Given the description of an element on the screen output the (x, y) to click on. 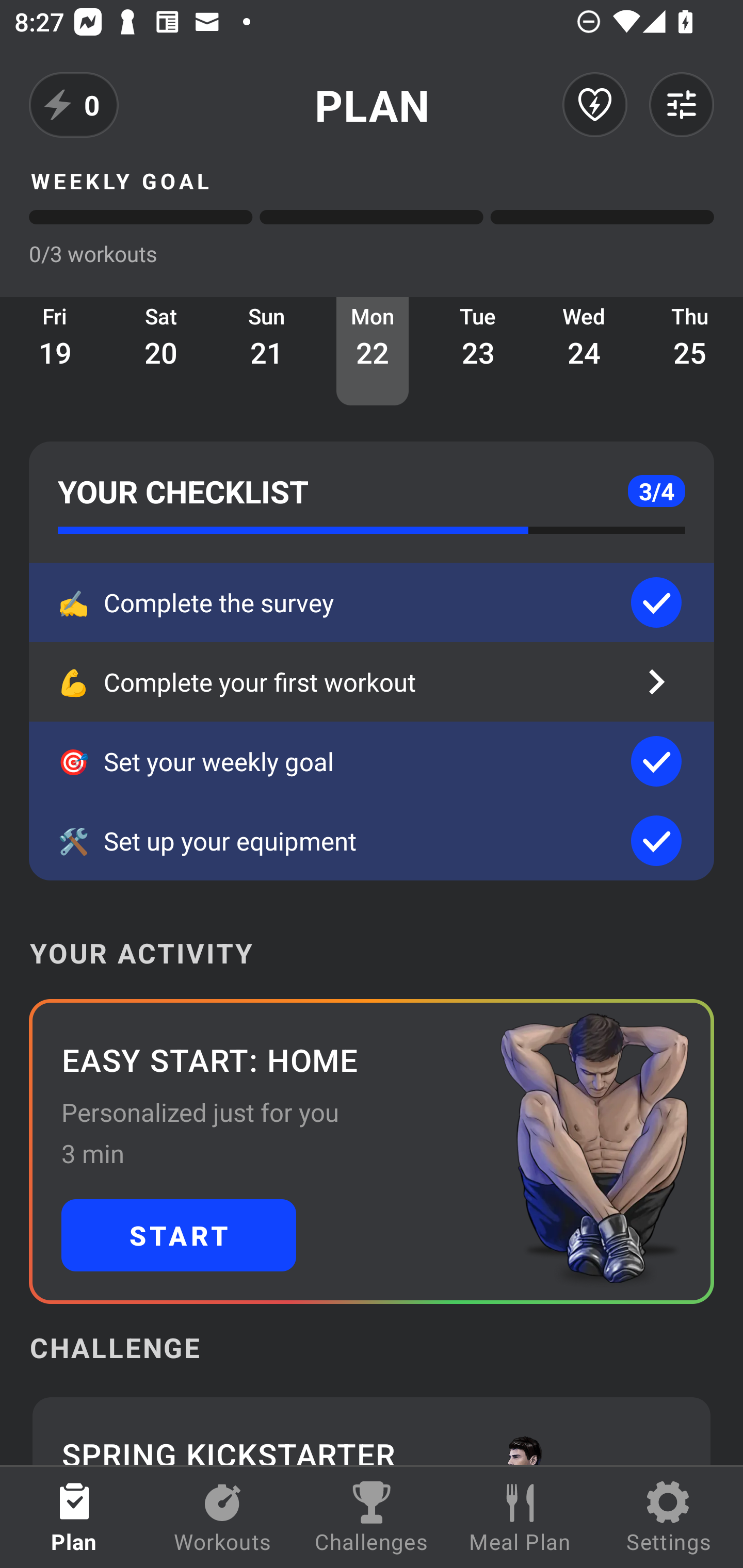
0 (73, 104)
Fri 19 (55, 351)
Sat 20 (160, 351)
Sun 21 (266, 351)
Mon 22 (372, 351)
Tue 23 (478, 351)
Wed 24 (584, 351)
Thu 25 (690, 351)
💪 Complete your first workout (371, 681)
START (178, 1235)
 Workouts  (222, 1517)
 Challenges  (371, 1517)
 Meal Plan  (519, 1517)
 Settings  (668, 1517)
